Given the description of an element on the screen output the (x, y) to click on. 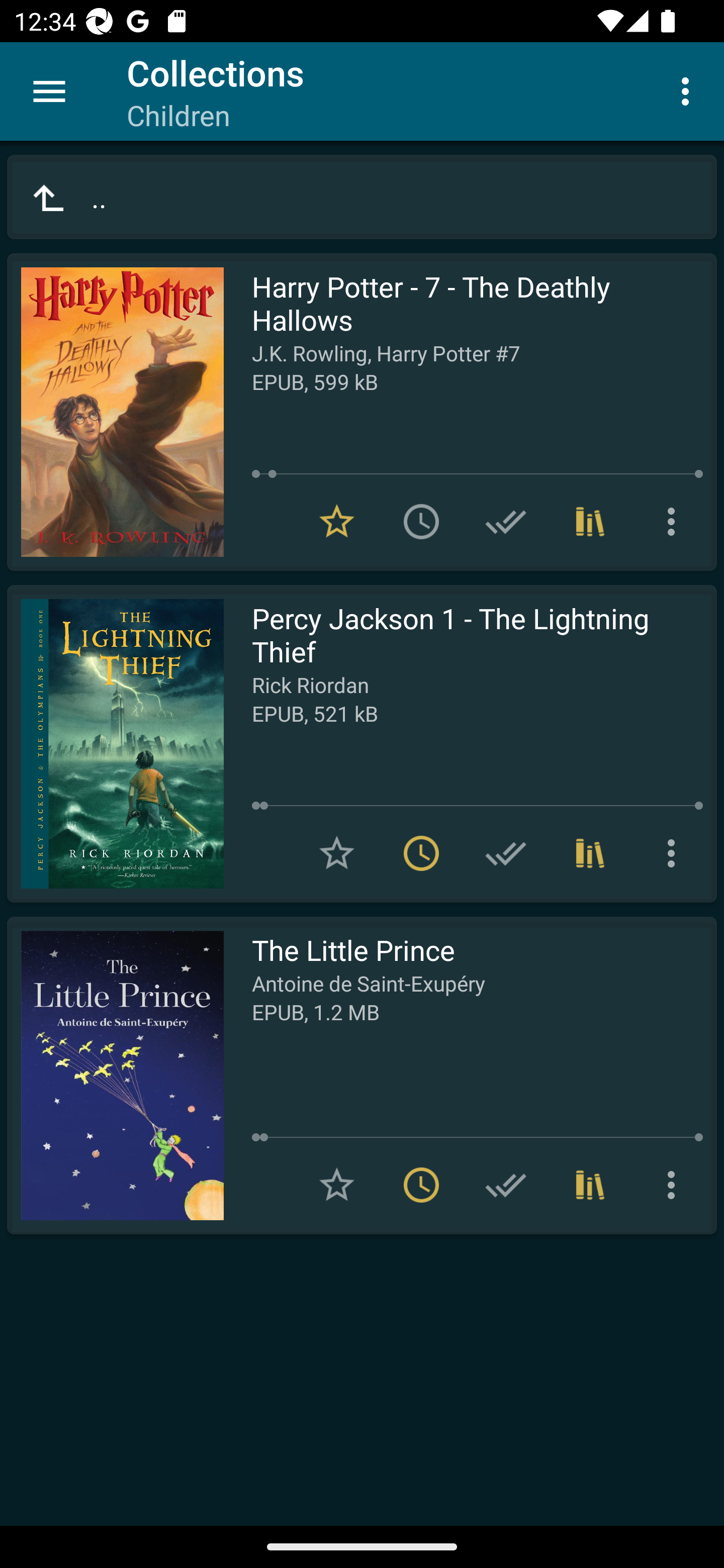
Menu (49, 91)
More options (688, 90)
.. (361, 197)
Read Harry Potter - 7 - The Deathly Hallows (115, 412)
Remove from Favorites (336, 521)
Add to To read (421, 521)
Add to Have read (505, 521)
Collections (3) (590, 521)
More options (674, 521)
Read Percy Jackson 1 - The Lightning Thief (115, 743)
Add to Favorites (336, 852)
Remove from To read (421, 852)
Add to Have read (505, 852)
Collections (1) (590, 852)
More options (674, 852)
Read The Little Prince (115, 1075)
Add to Favorites (336, 1185)
